Given the description of an element on the screen output the (x, y) to click on. 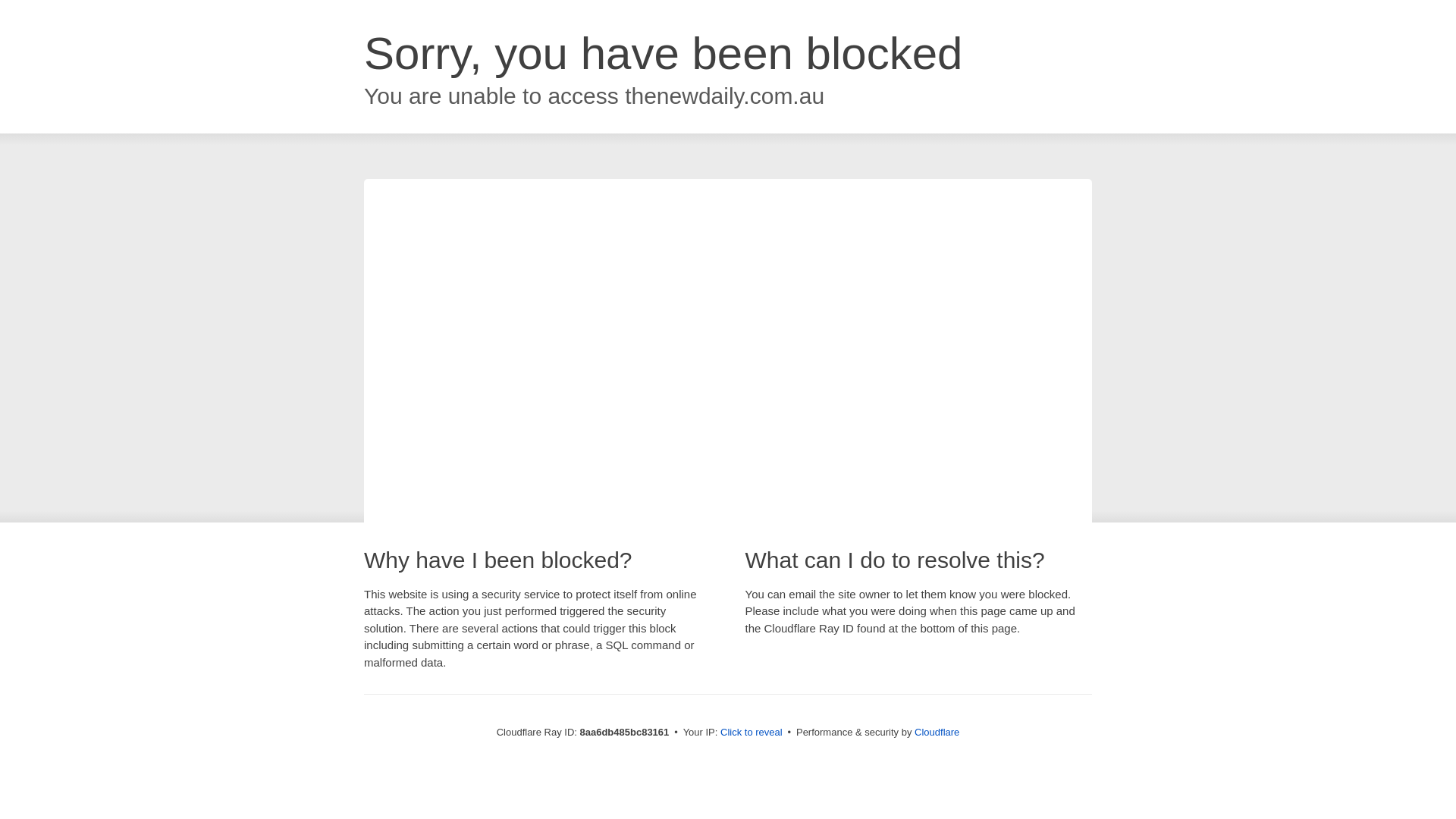
Click to reveal (751, 732)
Cloudflare (936, 731)
